Given the description of an element on the screen output the (x, y) to click on. 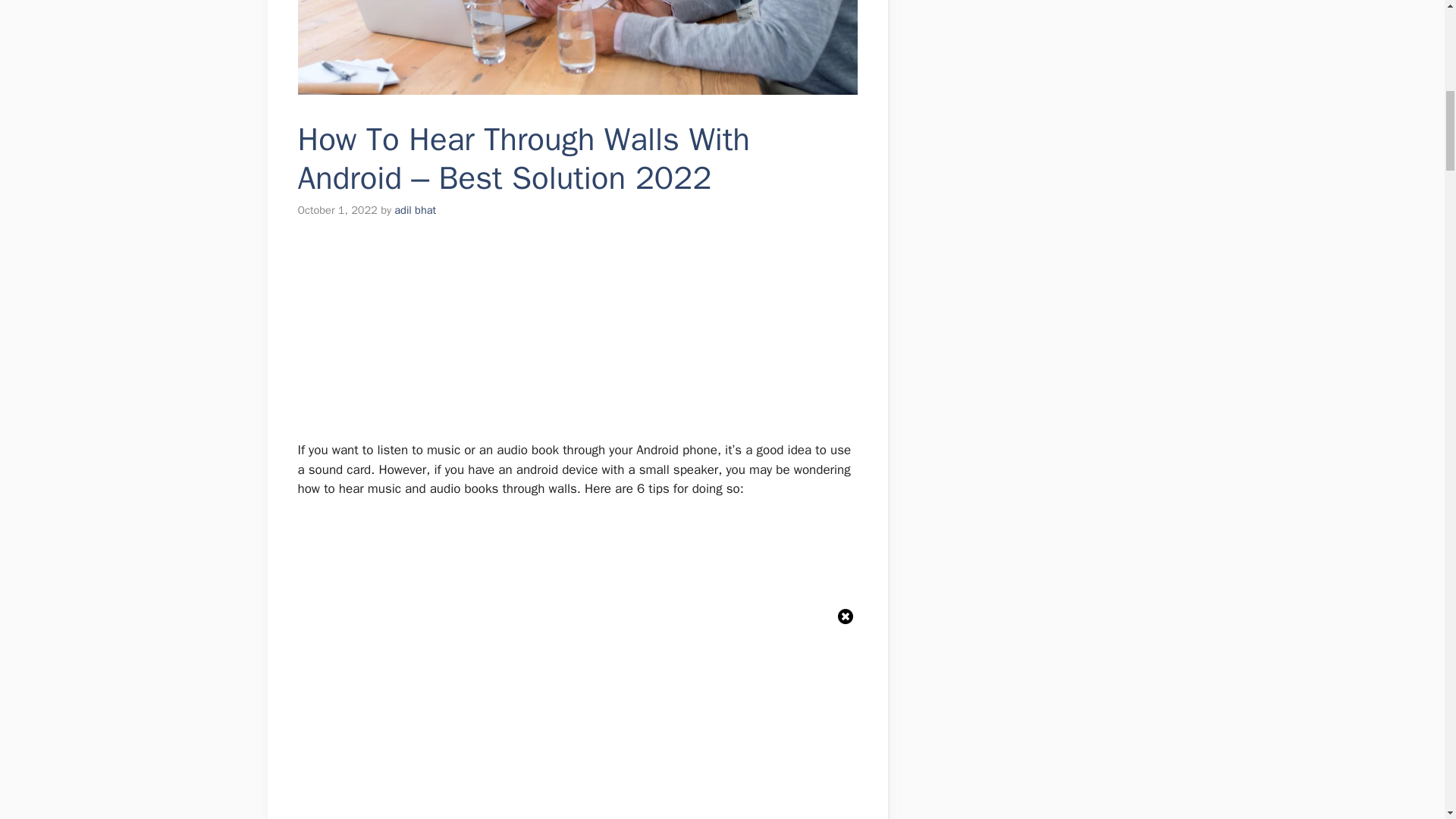
View all posts by adil bhat (414, 210)
adil bhat (414, 210)
